Given the description of an element on the screen output the (x, y) to click on. 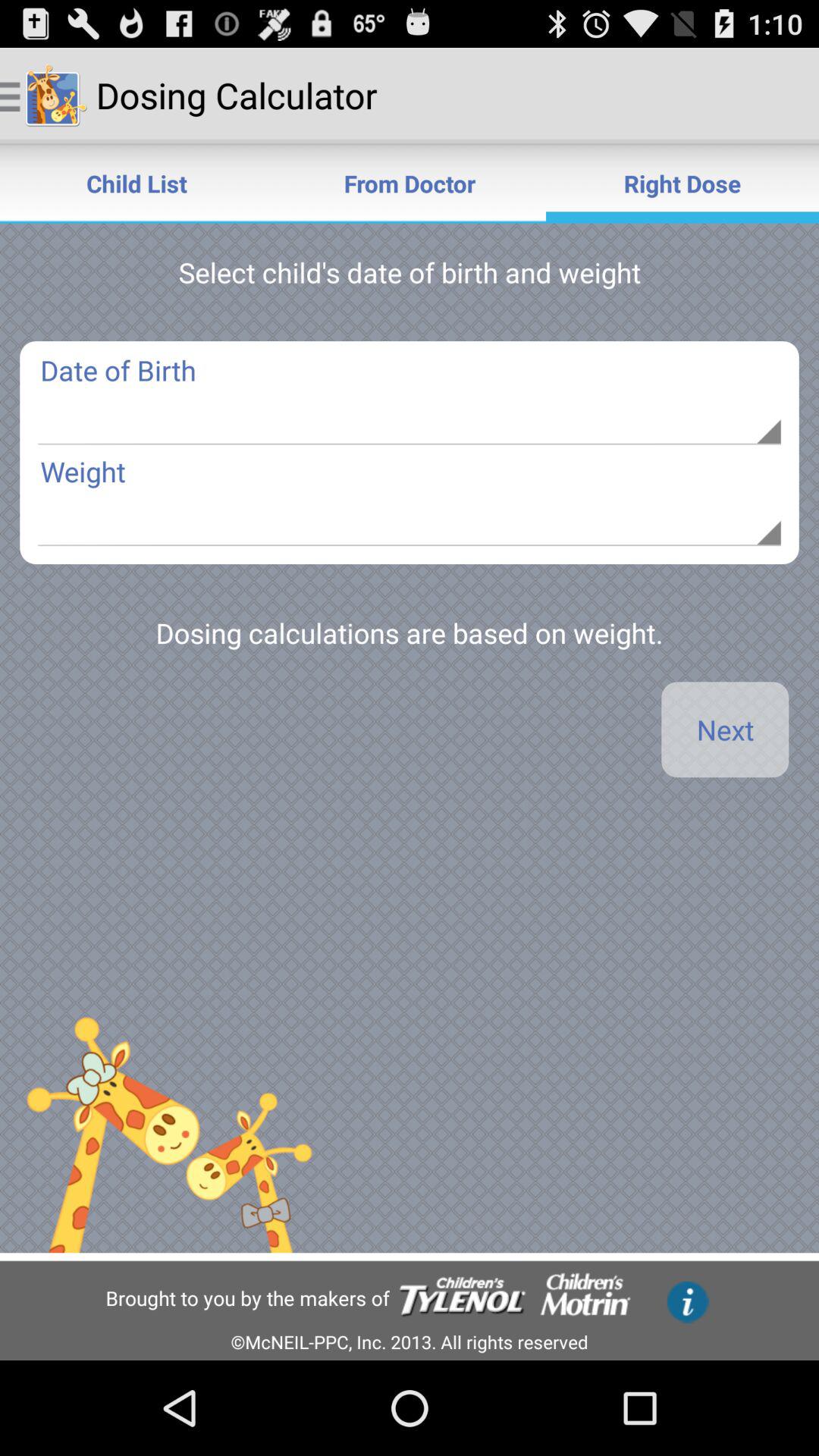
turn off app below the dosing calculations are app (724, 729)
